Given the description of an element on the screen output the (x, y) to click on. 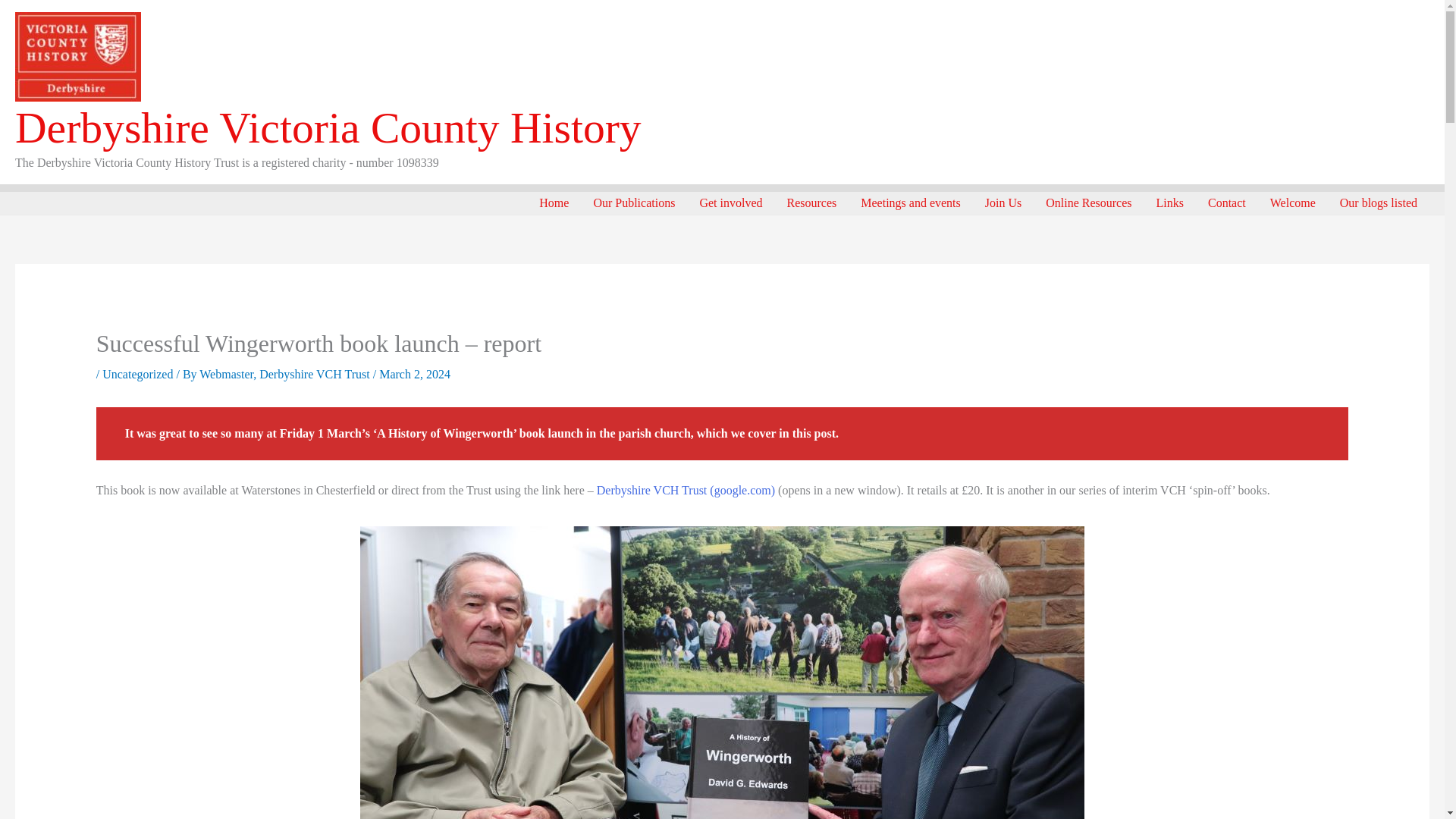
Home (553, 202)
Webmaster, Derbyshire VCH Trust (285, 373)
Welcome (1292, 202)
Our Publications (633, 202)
Derbyshire Victoria County History (328, 127)
View all posts by Webmaster, Derbyshire VCH Trust (285, 373)
Our blogs listed (1378, 202)
Links (1169, 202)
Contact (1226, 202)
Join Us (1002, 202)
Get involved (730, 202)
Resources (811, 202)
Uncategorized (137, 373)
Meetings and events (910, 202)
Online Resources (1087, 202)
